Given the description of an element on the screen output the (x, y) to click on. 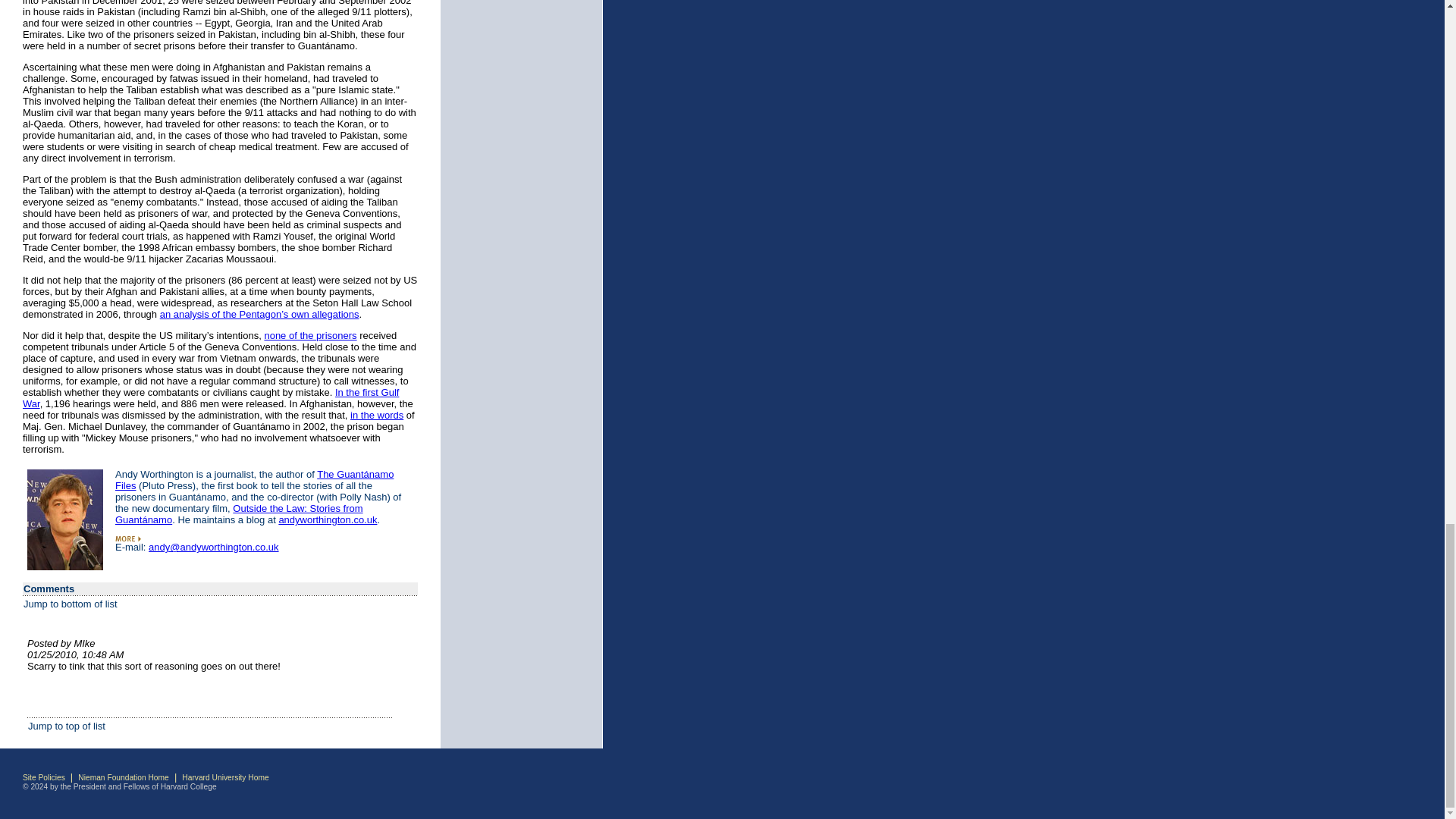
Jump to top of list (65, 726)
in the words (376, 414)
In the first Gulf War (210, 397)
none of the prisoners (309, 335)
Jump to bottom of list (70, 603)
andyworthington.co.uk (327, 519)
